Given the description of an element on the screen output the (x, y) to click on. 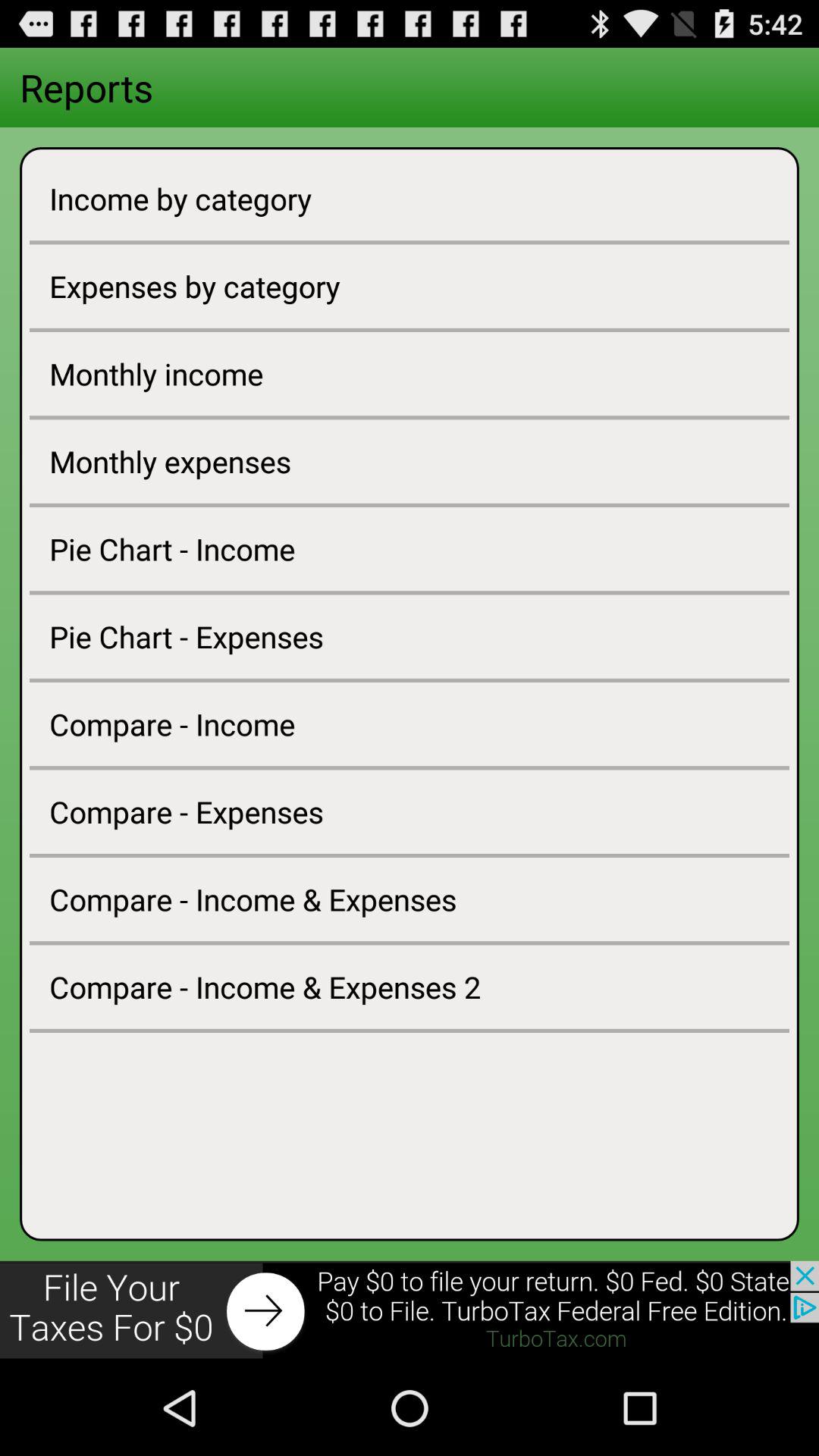
click advertisement (409, 1310)
